Given the description of an element on the screen output the (x, y) to click on. 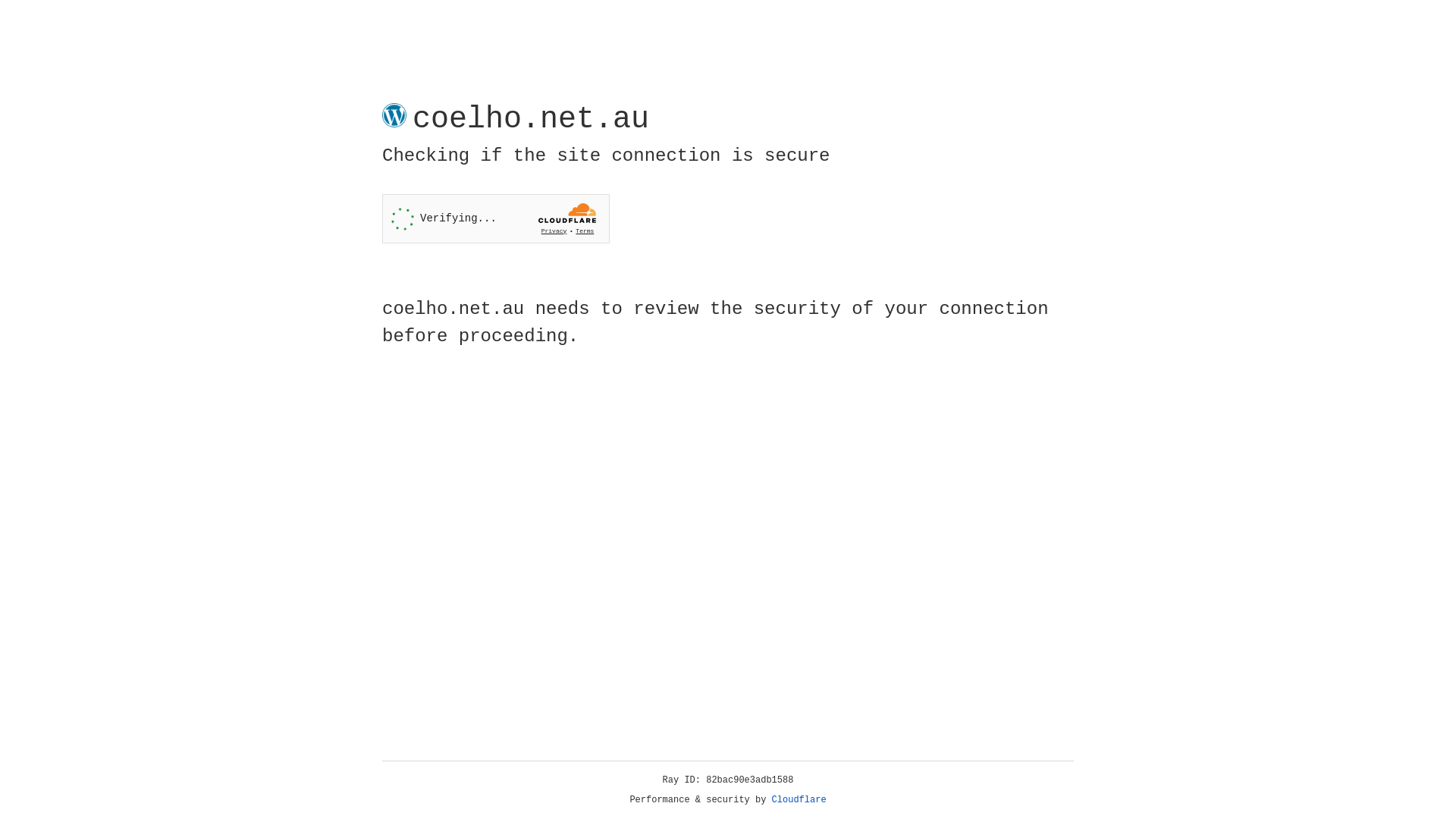
Cloudflare Element type: text (798, 799)
Widget containing a Cloudflare security challenge Element type: hover (495, 218)
